Given the description of an element on the screen output the (x, y) to click on. 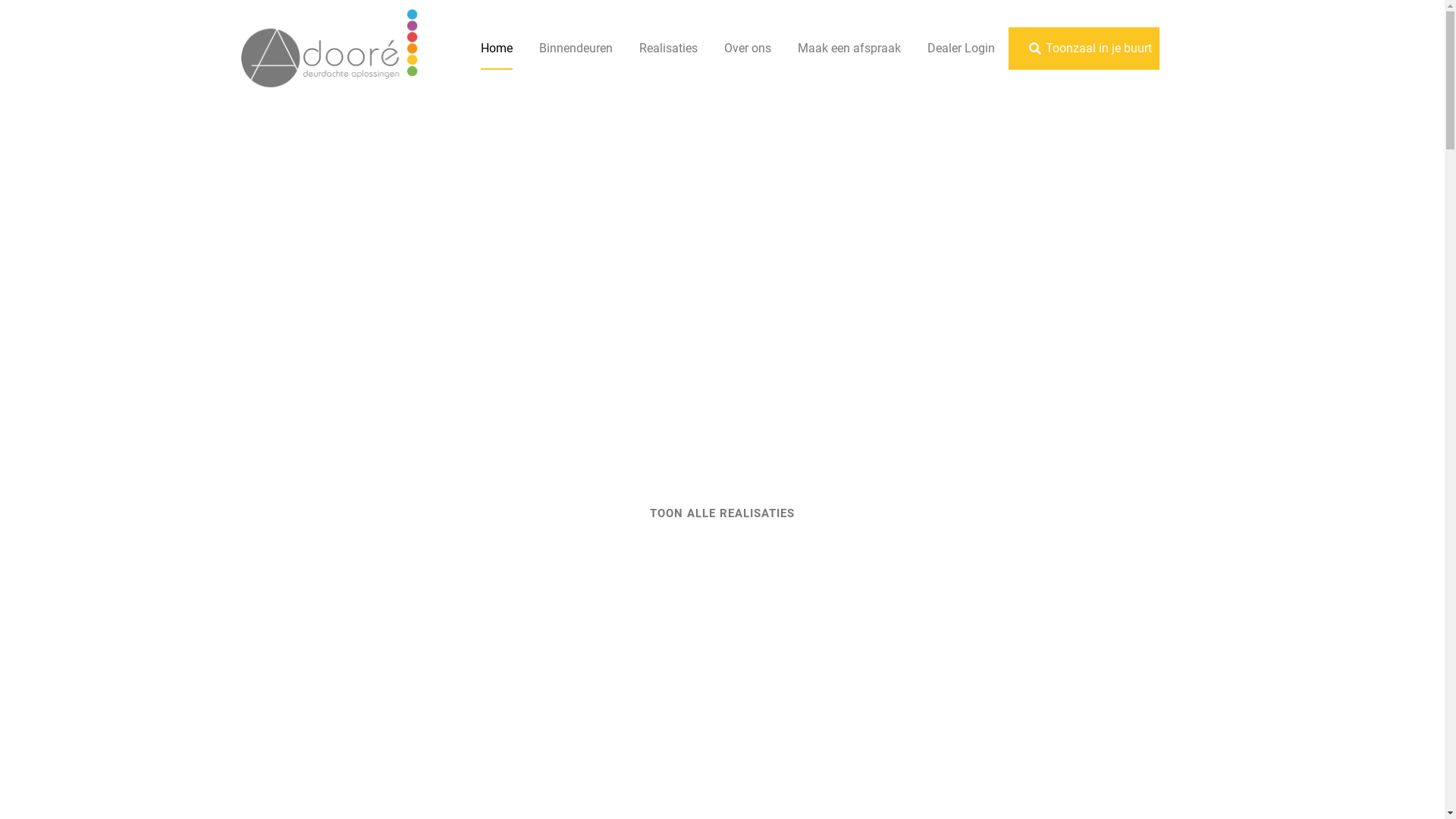
Realisaties Element type: text (668, 48)
Home Element type: text (496, 48)
Dealer Login Element type: text (960, 48)
Over ons Element type: text (747, 48)
Maak een afspraak Element type: text (848, 48)
Moderne deuren met strakke omlijsting
TOON L-FRAME Element type: text (526, 324)
Binnendeuren Element type: text (575, 48)
Toonzaal in je buurt Element type: text (1090, 48)
TOON ALLE REALISATIES Element type: text (722, 513)
